Given the description of an element on the screen output the (x, y) to click on. 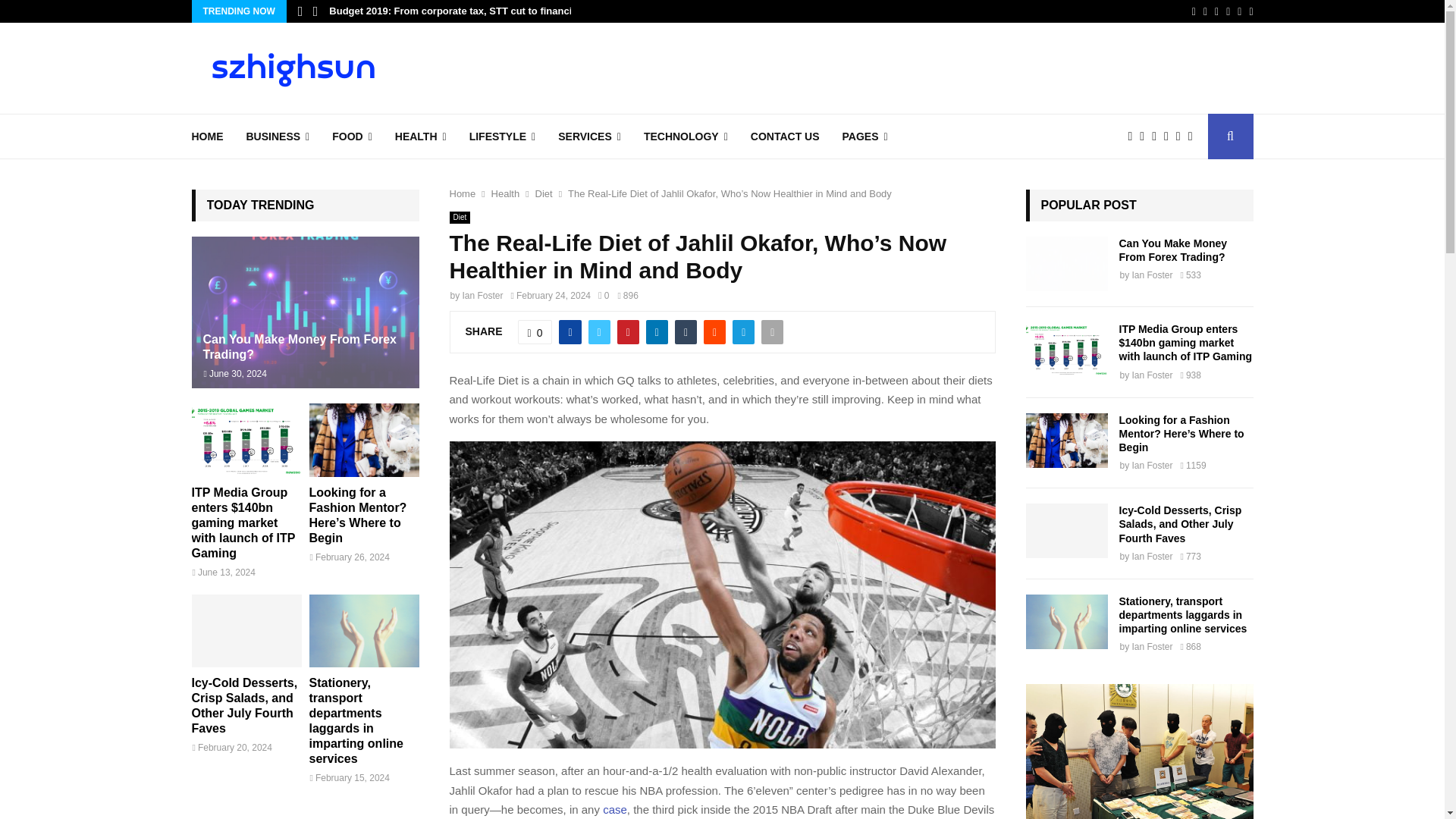
BUSINESS (277, 135)
Like (535, 331)
HEALTH (420, 135)
LIFESTYLE (501, 135)
